Given the description of an element on the screen output the (x, y) to click on. 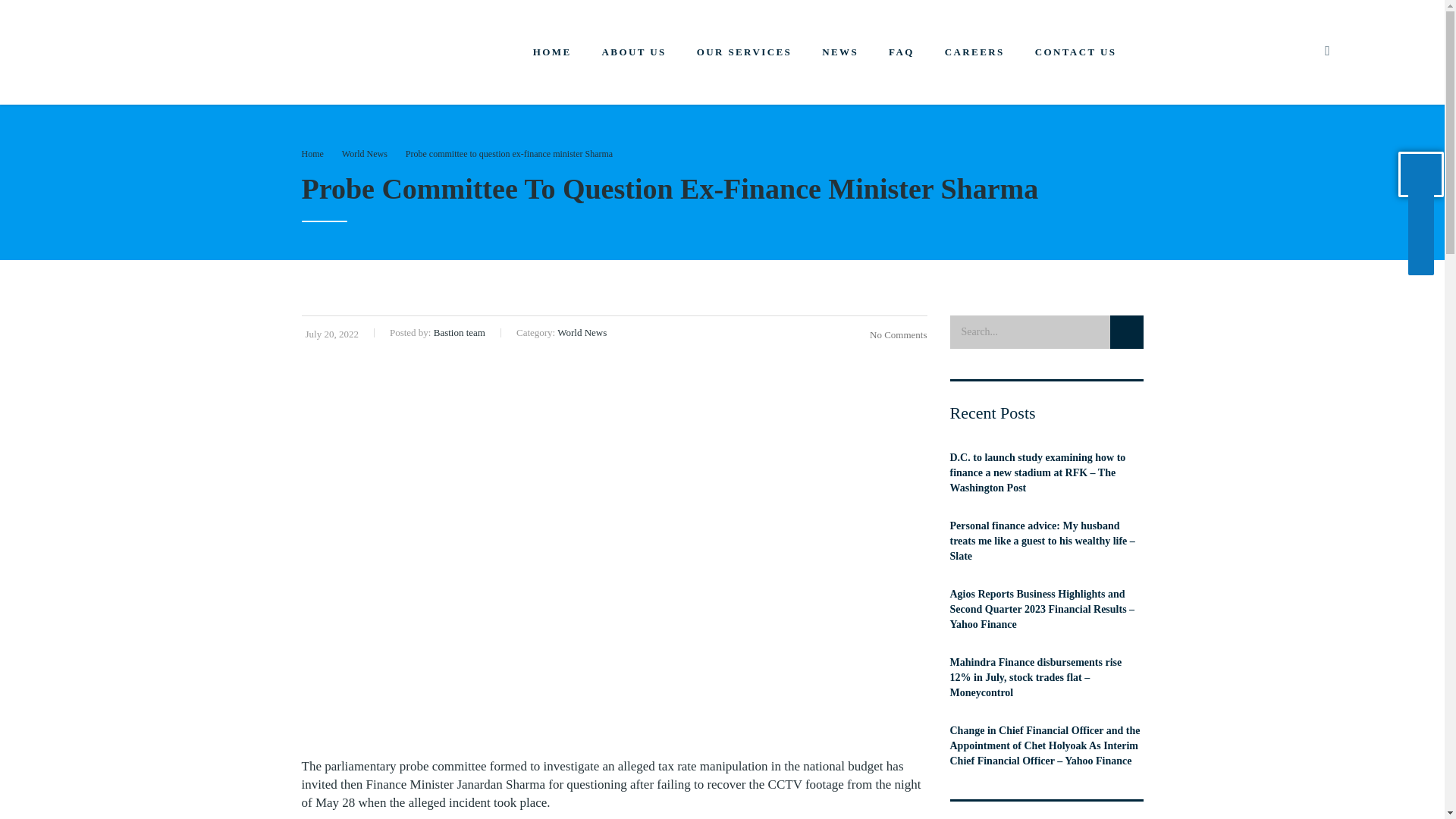
CAREERS (975, 51)
No Comments (894, 334)
ABOUT US (633, 51)
HOME (552, 51)
CONTACT US (1076, 51)
Social item (1327, 51)
Go to the World News category archives. (364, 153)
OUR SERVICES (744, 51)
Home (312, 153)
FAQ (901, 51)
NEWS (839, 51)
World News (364, 153)
Go to Bastion Balance Seoul Korea. (312, 153)
Bastion Balance Wealth Management (211, 45)
